Given the description of an element on the screen output the (x, y) to click on. 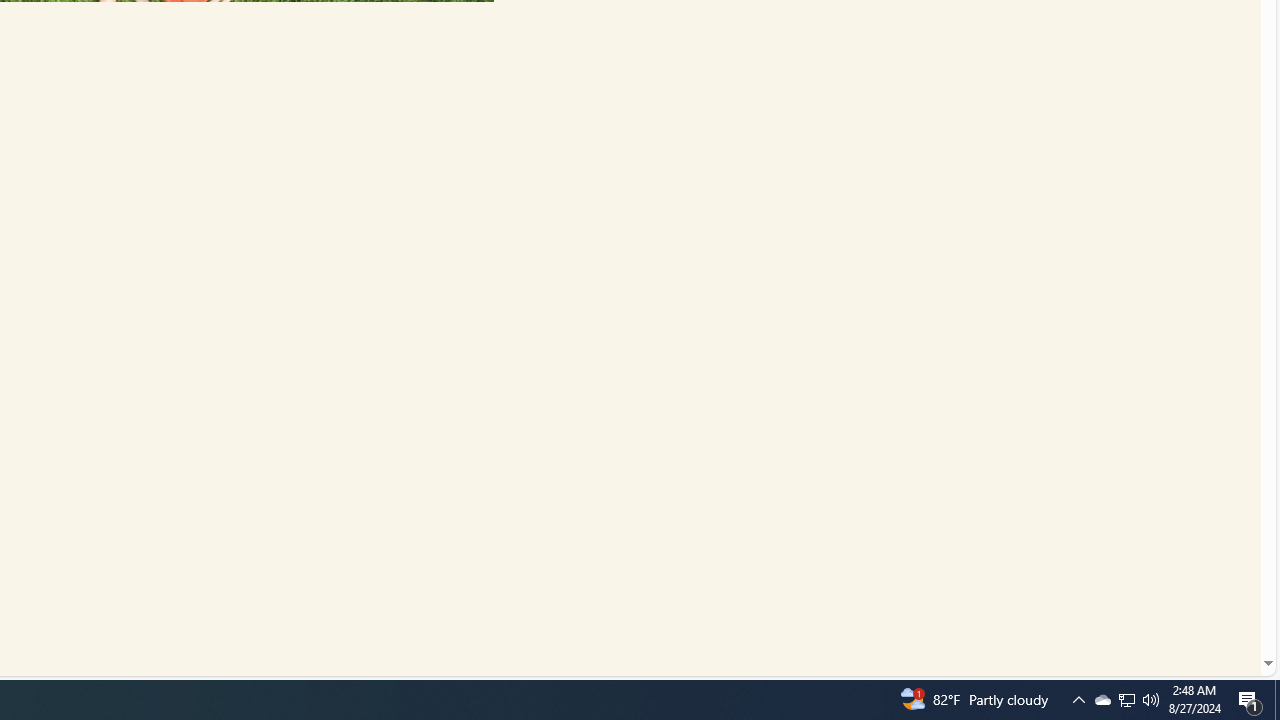
Action Center, 1 new notification (1250, 699)
